Given the description of an element on the screen output the (x, y) to click on. 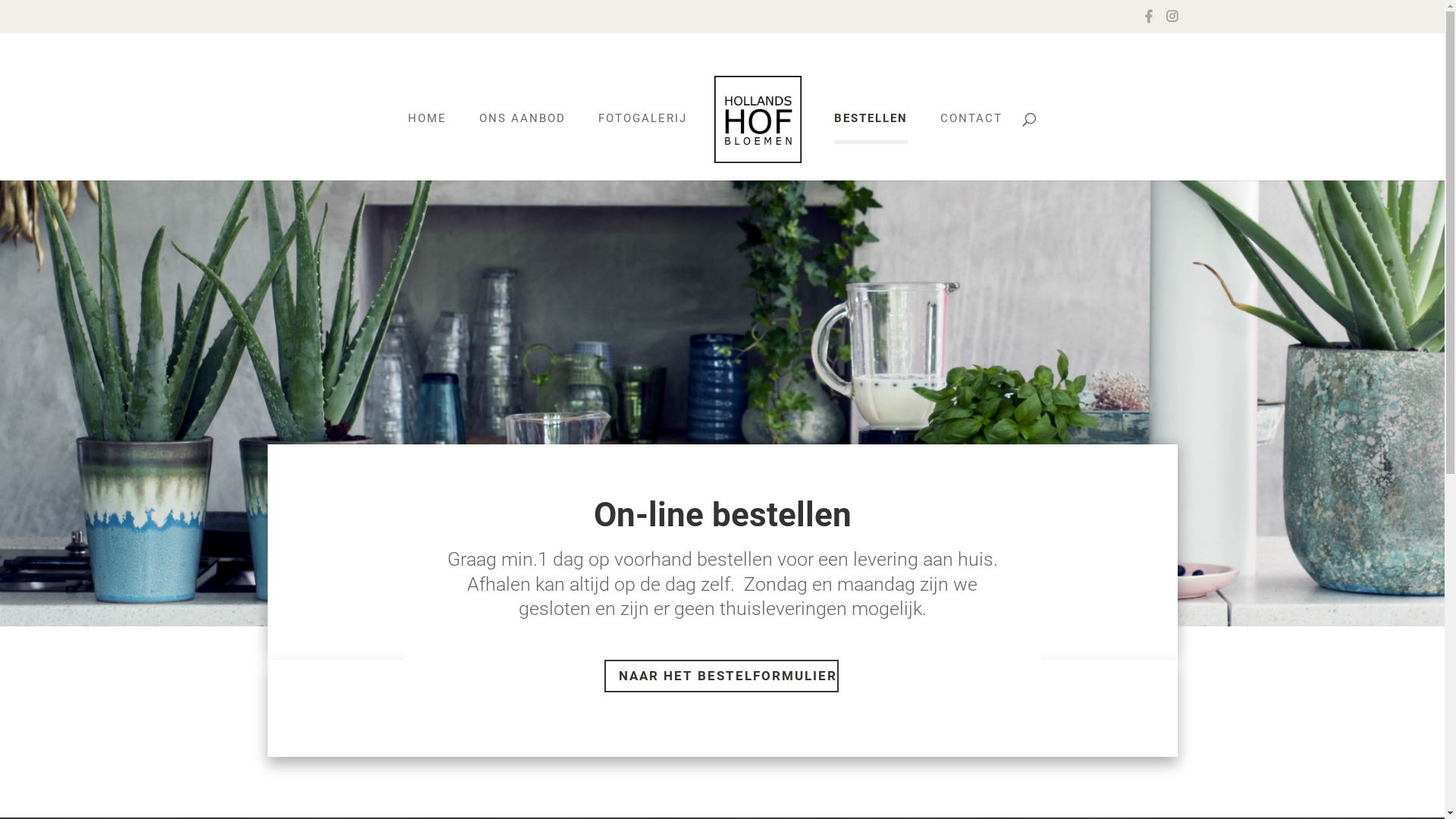
HOME Element type: text (426, 125)
ONS AANBOD Element type: text (522, 125)
CONTACT Element type: text (971, 125)
NAAR HET BESTELFORMULIER Element type: text (721, 675)
BESTELLEN Element type: text (870, 127)
FOTOGALERIJ Element type: text (642, 125)
